Given the description of an element on the screen output the (x, y) to click on. 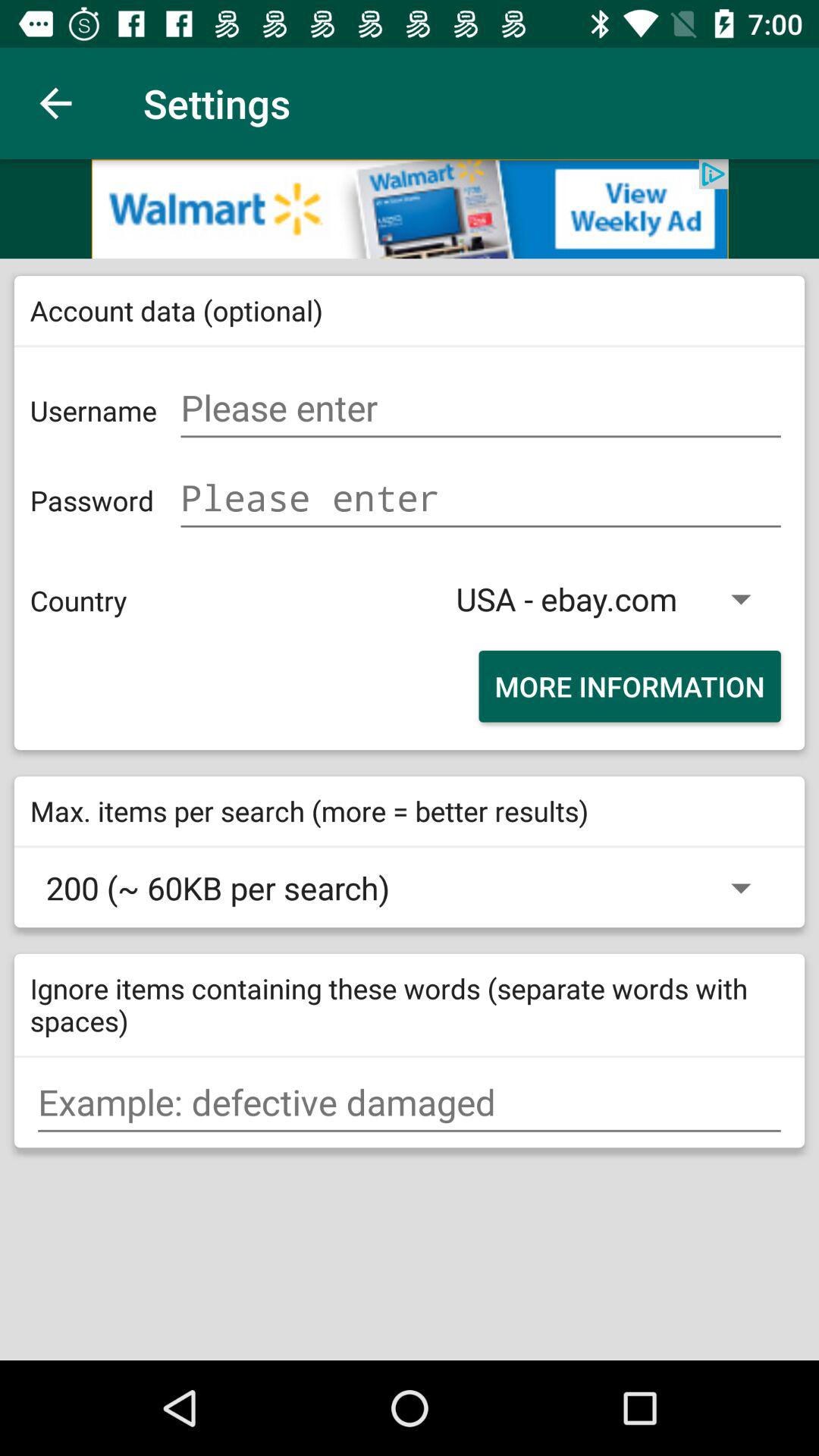
put password (480, 498)
